Given the description of an element on the screen output the (x, y) to click on. 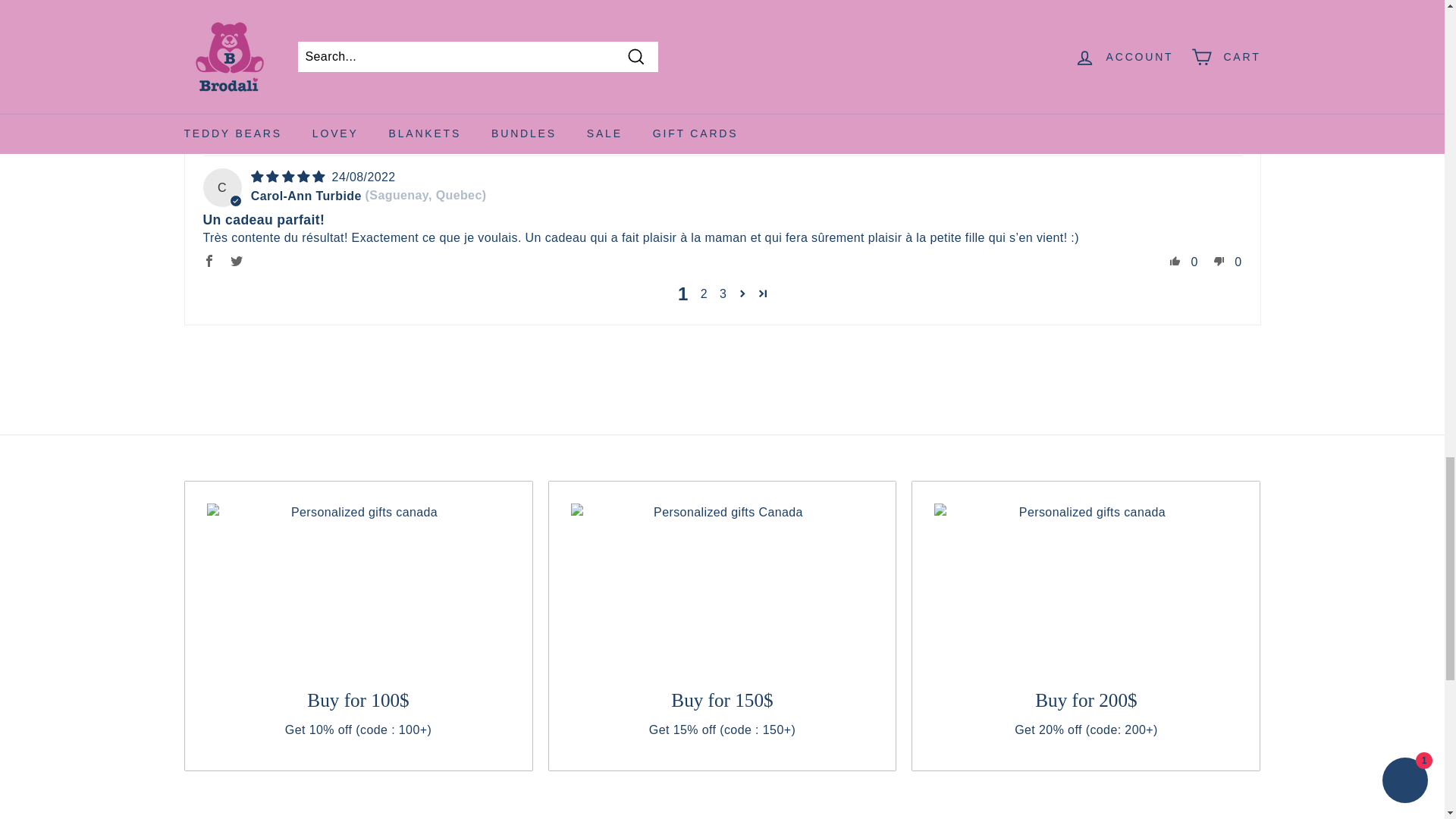
Facebook (208, 9)
Facebook (208, 134)
down (1219, 9)
up (1175, 9)
Twitter (236, 9)
